Given the description of an element on the screen output the (x, y) to click on. 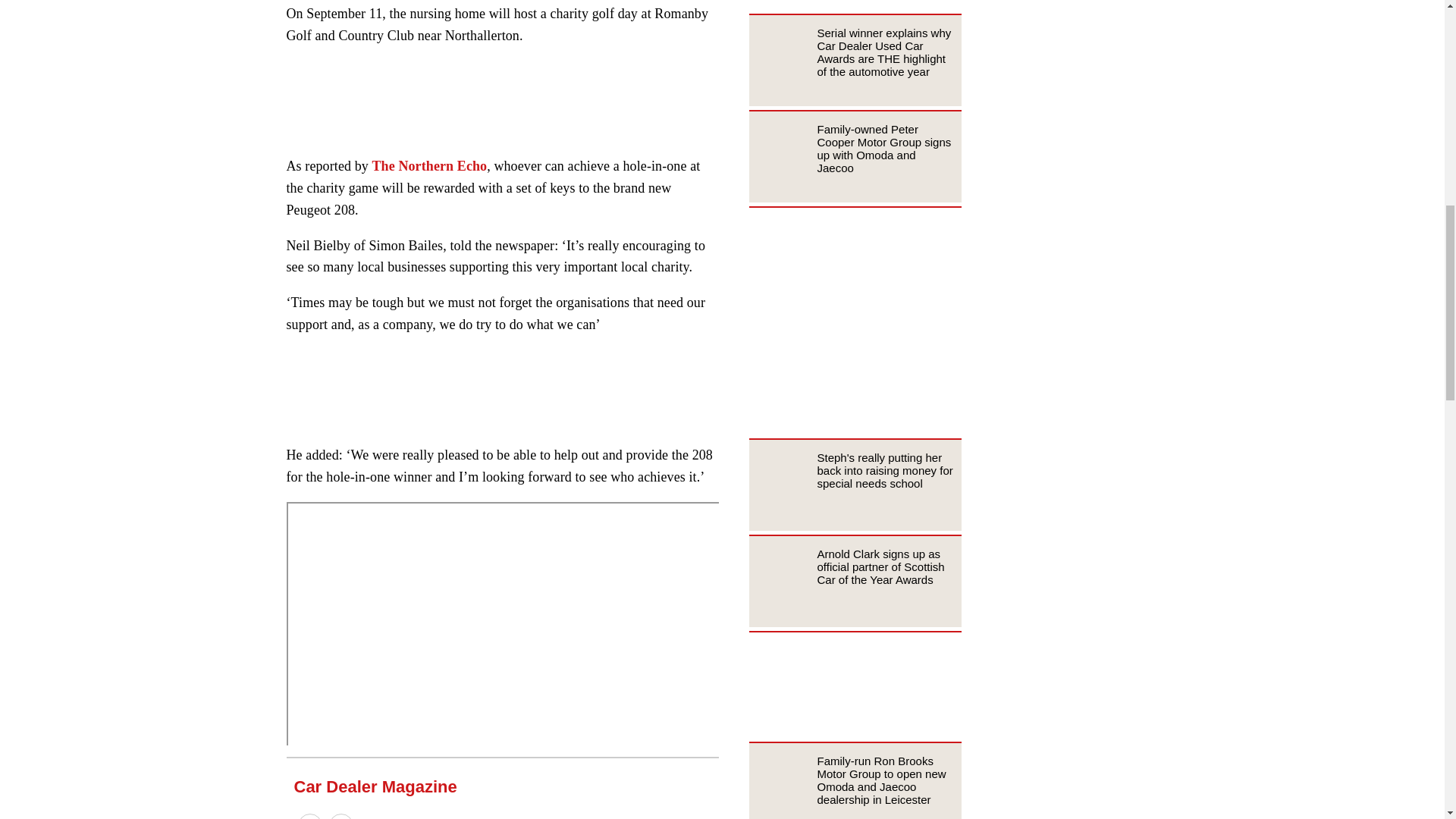
Posts by Car Dealer Magazine (375, 786)
The Northern Echo (428, 165)
Car Dealer Magazine (375, 786)
